Given the description of an element on the screen output the (x, y) to click on. 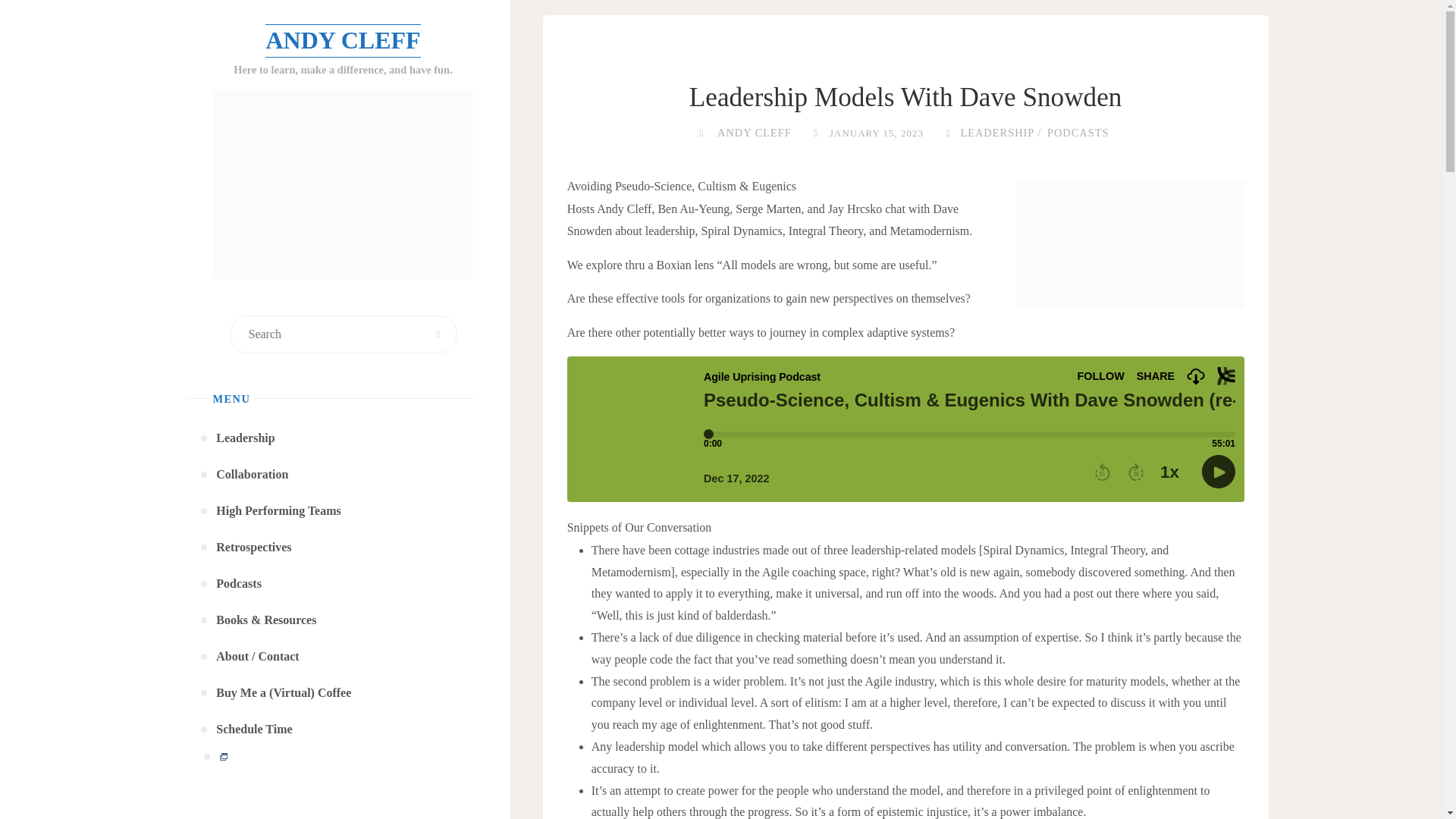
Categories (947, 132)
View all posts by Andy Cleff (753, 132)
High Performing Teams (277, 511)
Embed Player (905, 429)
Search (438, 333)
Leadership (245, 438)
Verbosa (288, 818)
WordPress (355, 818)
Retrospectives (253, 547)
ANDY CLEFF (753, 132)
